Given the description of an element on the screen output the (x, y) to click on. 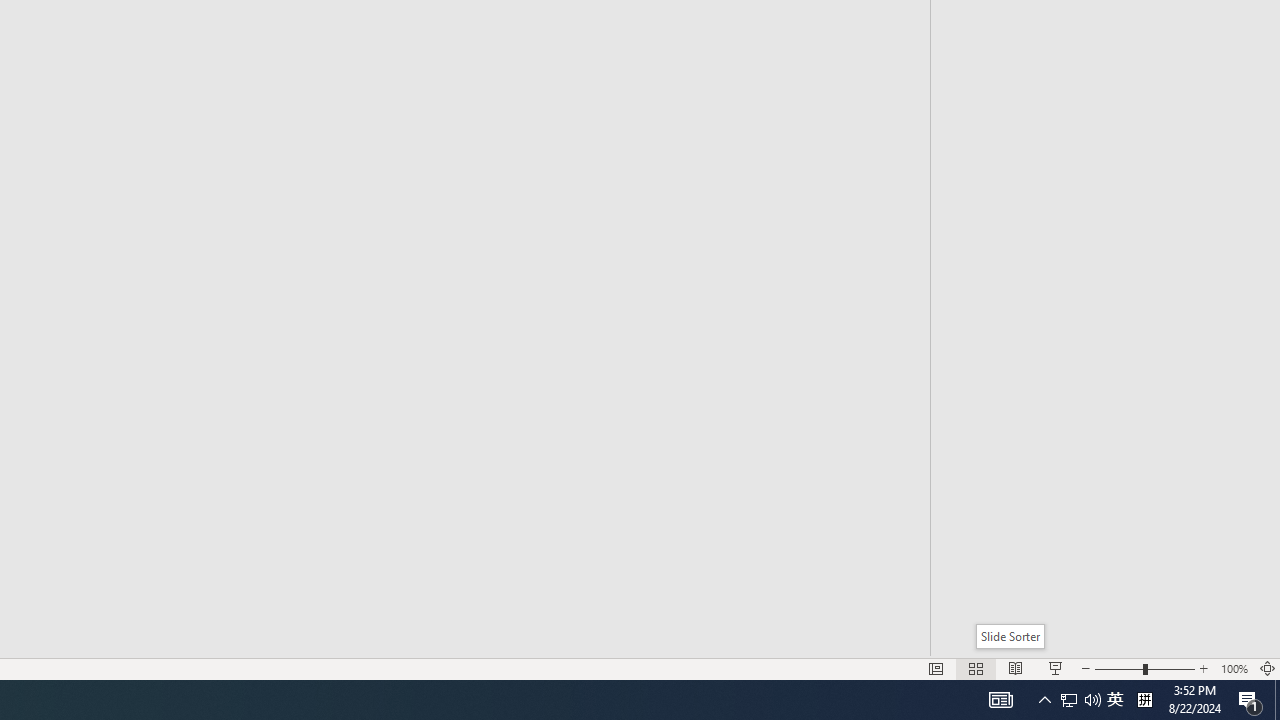
Zoom 100% (1234, 668)
